Given the description of an element on the screen output the (x, y) to click on. 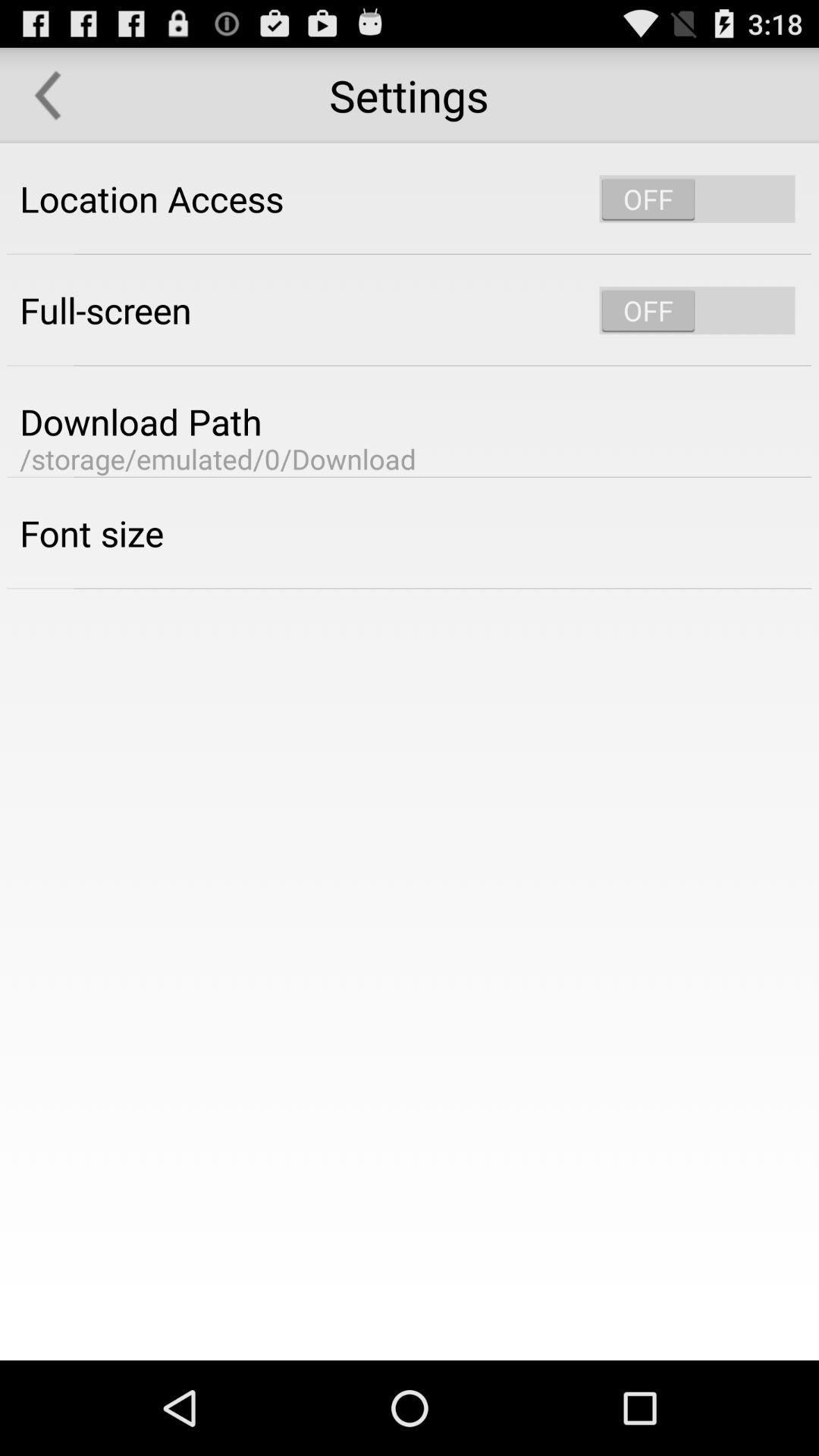
toggle location services (697, 198)
